Given the description of an element on the screen output the (x, y) to click on. 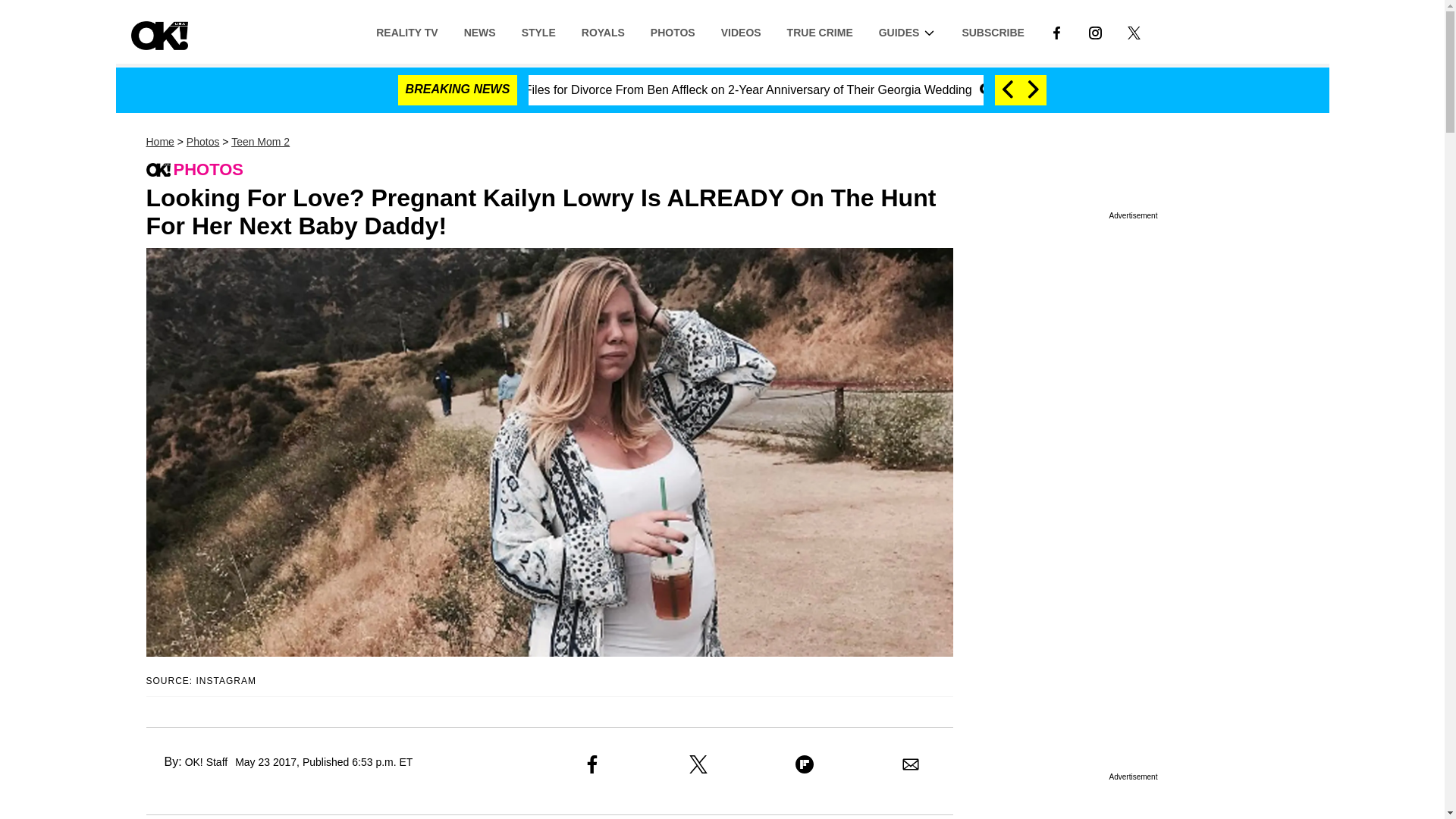
LINK TO X (1133, 32)
STYLE (538, 31)
Link to X (1134, 31)
LINK TO FACEBOOK (1055, 31)
Teen Mom 2 (260, 141)
PHOTOS (672, 31)
Share to Email (909, 764)
Legendary Talk Show Host Phil Donahue Dead at Age 88 (1147, 89)
ROYALS (603, 31)
LINK TO INSTAGRAM (1095, 31)
